Given the description of an element on the screen output the (x, y) to click on. 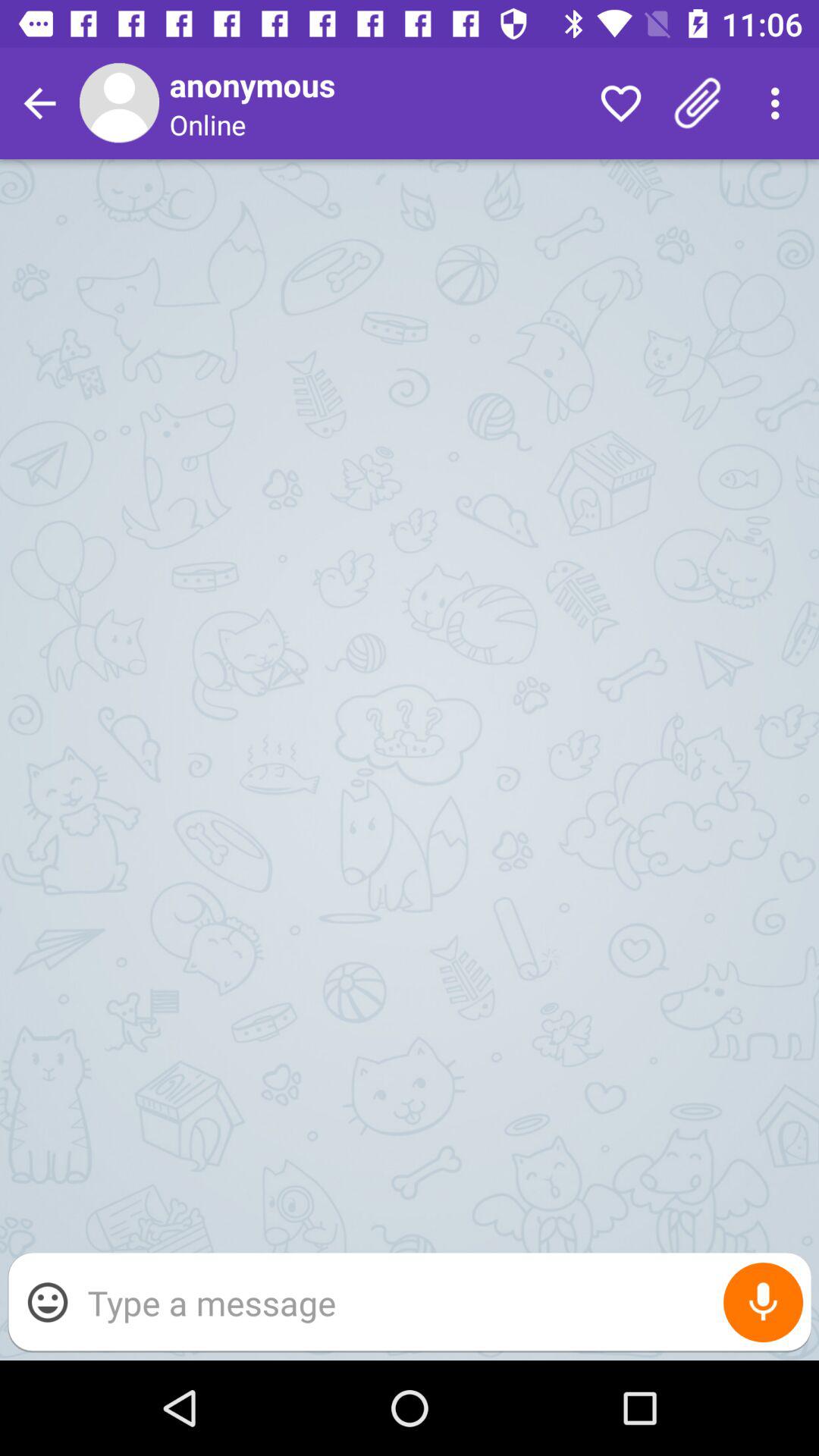
go back (39, 103)
